Given the description of an element on the screen output the (x, y) to click on. 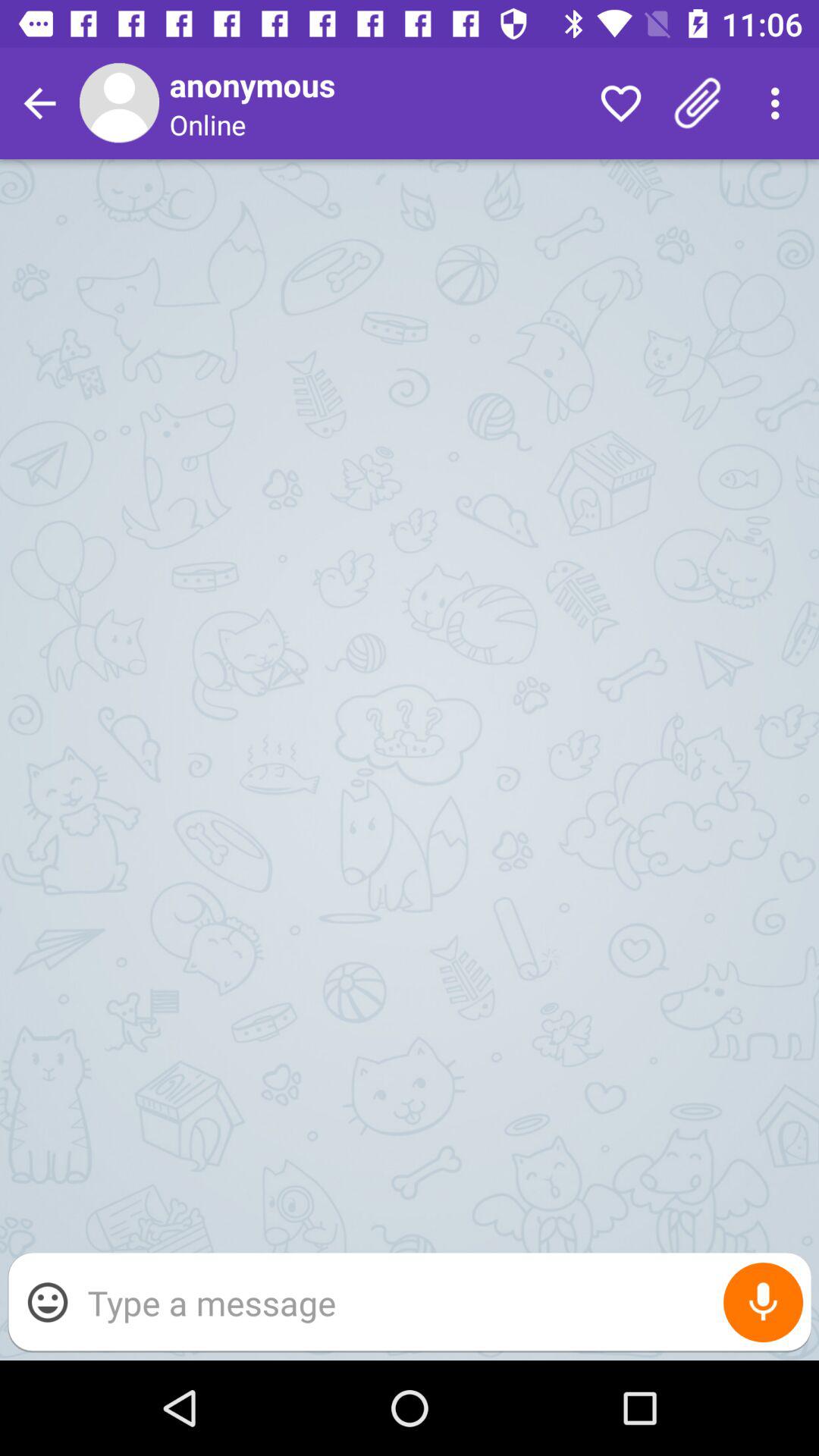
go back (39, 103)
